Given the description of an element on the screen output the (x, y) to click on. 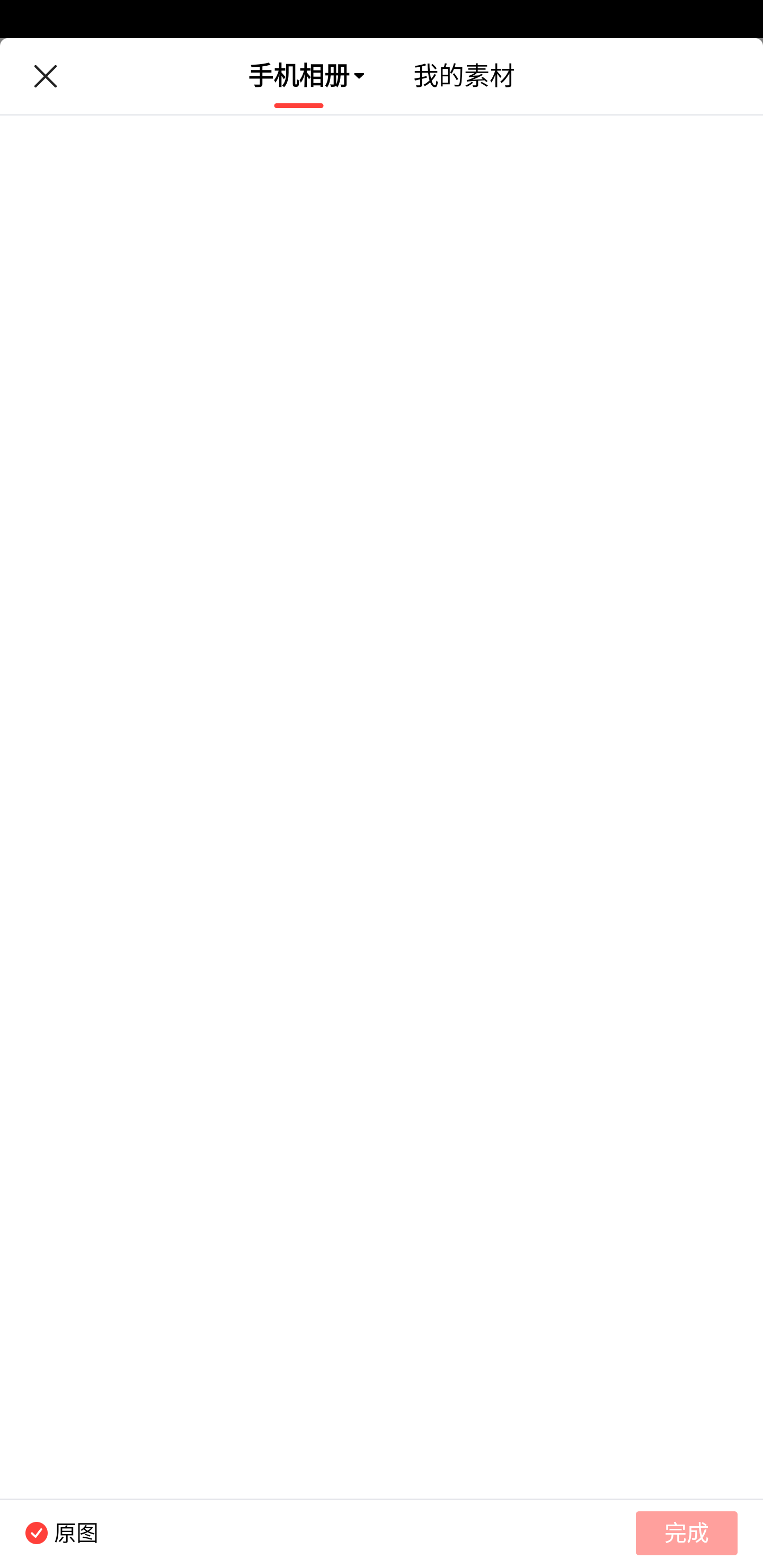
返回 (44, 75)
手机相册 (298, 75)
我的素材 (464, 75)
已选中，原图， 原图 完成 完成 (381, 1533)
已选中，原图， 原图 (49, 1533)
